Given the description of an element on the screen output the (x, y) to click on. 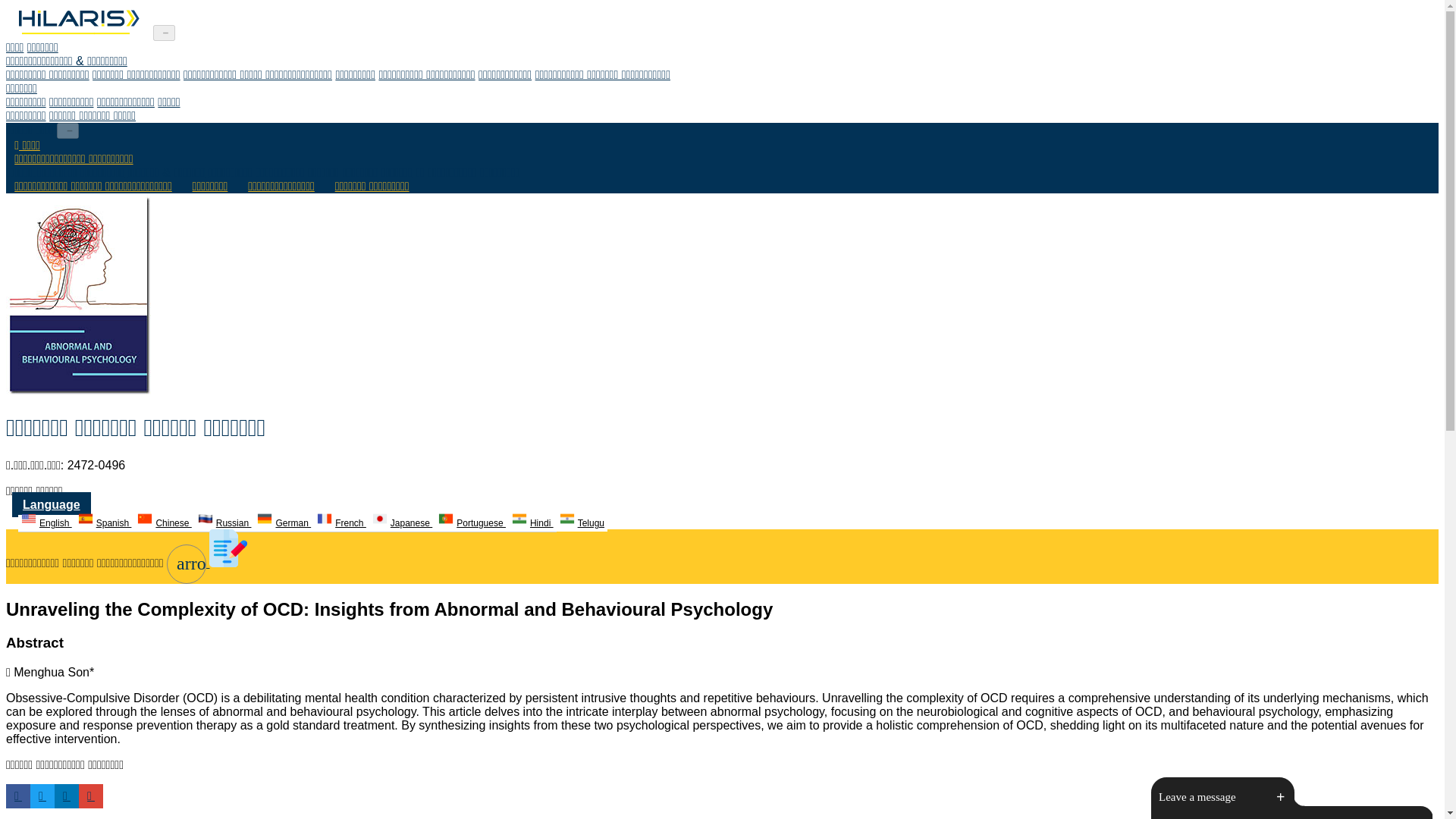
Spanish (105, 523)
Reviewers (505, 74)
Reprints (125, 101)
Chinese (163, 523)
Manuscript Guidelines (257, 74)
Language (50, 504)
Terms and Conditions (602, 74)
Russian (224, 523)
Online Submission (136, 74)
Subscription (168, 101)
Membership (71, 101)
Japanese (402, 523)
Conferences (25, 115)
Editorial Policies (46, 74)
English (46, 523)
